Given the description of an element on the screen output the (x, y) to click on. 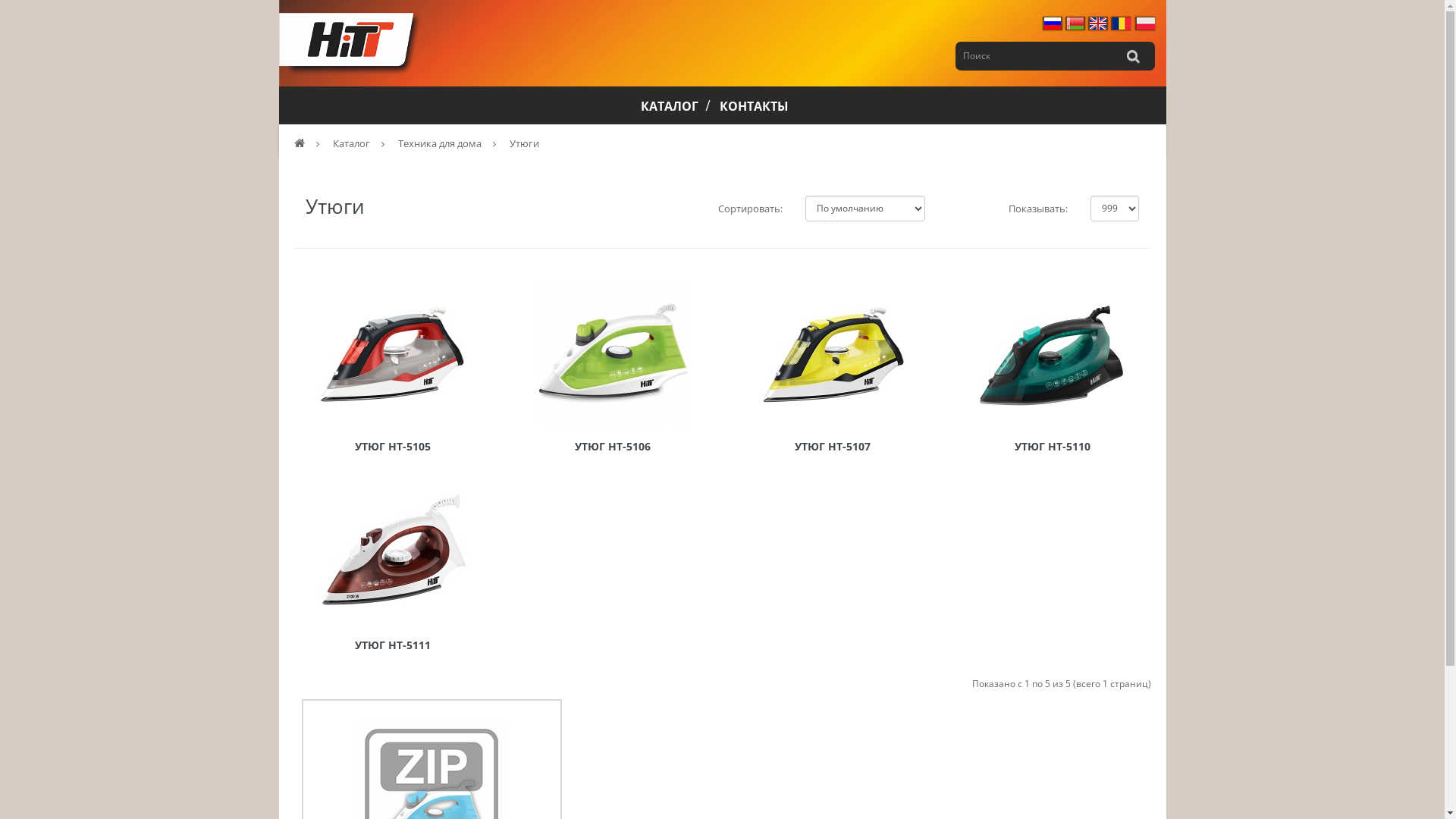
Polski Element type: hover (1144, 23)
English Element type: hover (1096, 23)
Russian Element type: hover (1051, 23)
Hitt Element type: hover (350, 43)
Romana Element type: hover (1120, 23)
